Given the description of an element on the screen output the (x, y) to click on. 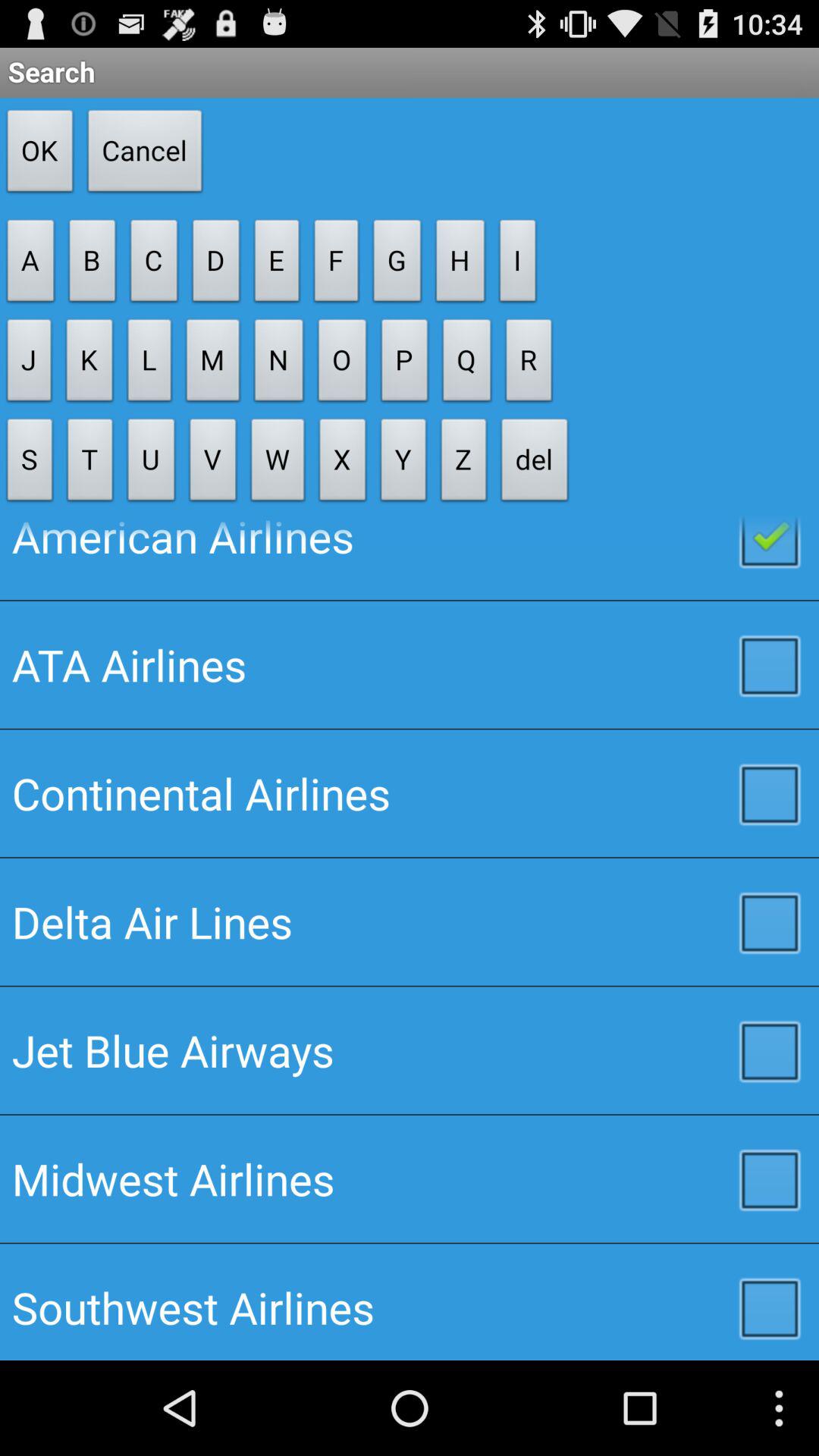
click the icon above midwest airlines (409, 1050)
